Given the description of an element on the screen output the (x, y) to click on. 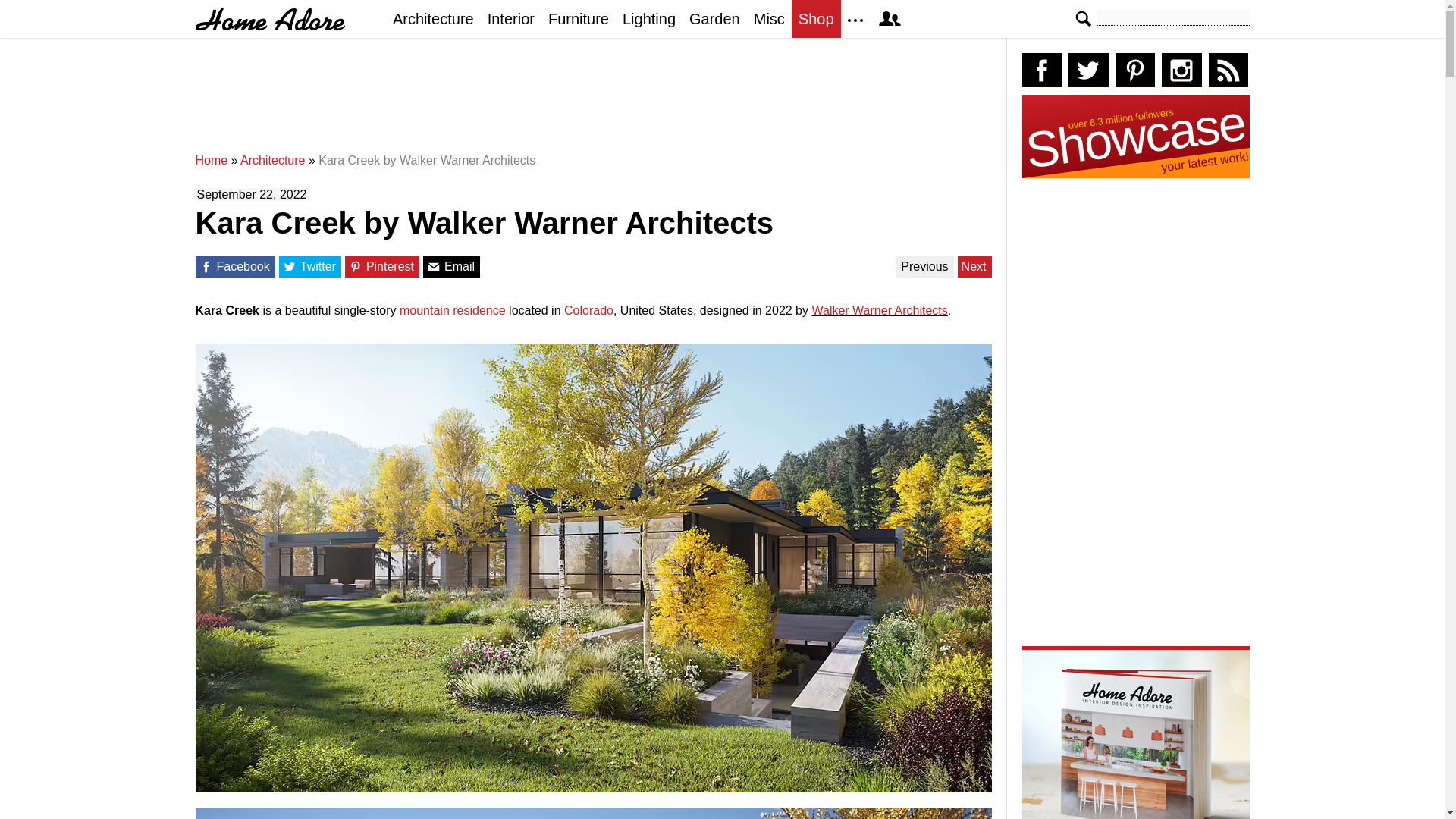
Lighting (648, 18)
Kara Creek by Walker Warner Architects (426, 160)
Home (211, 160)
Architecture (432, 18)
Shop (816, 18)
Misc (769, 18)
Garden (714, 18)
Kara Creek by Walker Warner Architects (426, 160)
Share with a Friend (433, 266)
Member Area (889, 17)
